Given the description of an element on the screen output the (x, y) to click on. 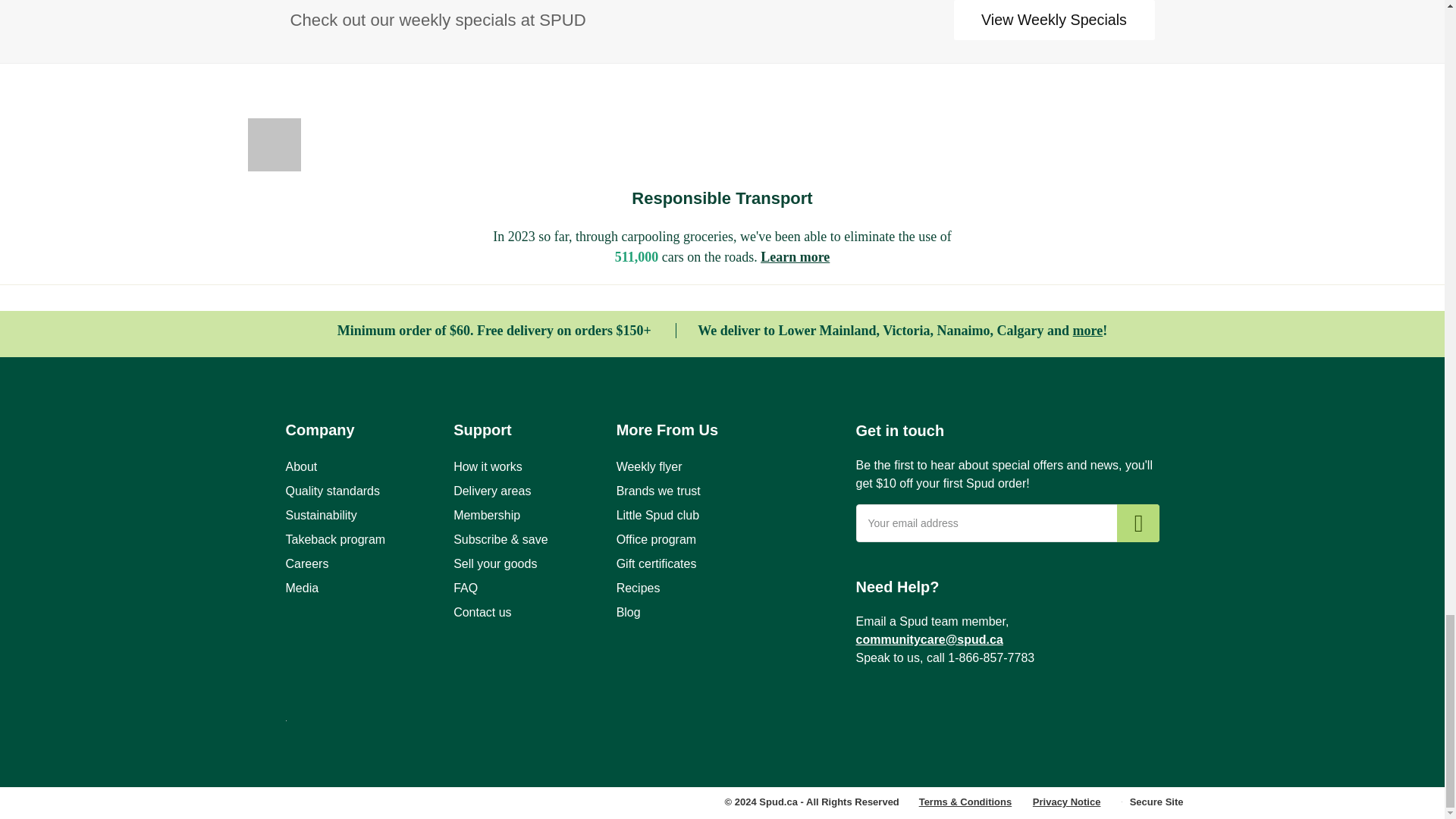
Spud on LinkedIn (976, 711)
Spud on Facebook (877, 711)
Spud on Pinterest (1019, 711)
Spud on Instagram (919, 711)
